Given the description of an element on the screen output the (x, y) to click on. 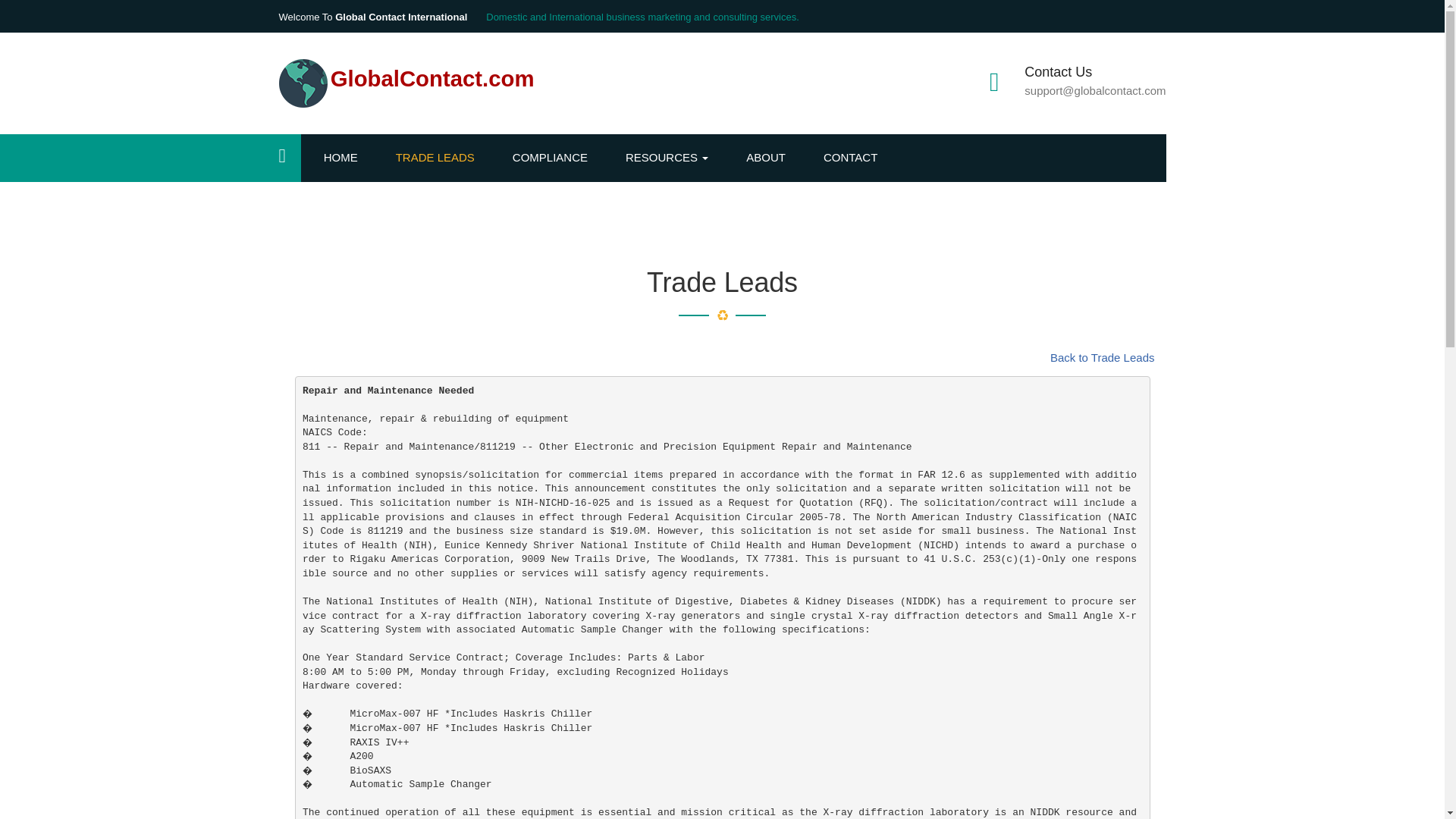
ABOUT (772, 157)
Back to Trade Leads (1101, 357)
RESOURCES (674, 157)
COMPLIANCE (557, 157)
TRADE LEADS (442, 157)
Welcome To Global Contact International (373, 16)
CONTACT (858, 157)
Logo (303, 82)
HOME (347, 157)
GlobalContact.com (406, 82)
